Given the description of an element on the screen output the (x, y) to click on. 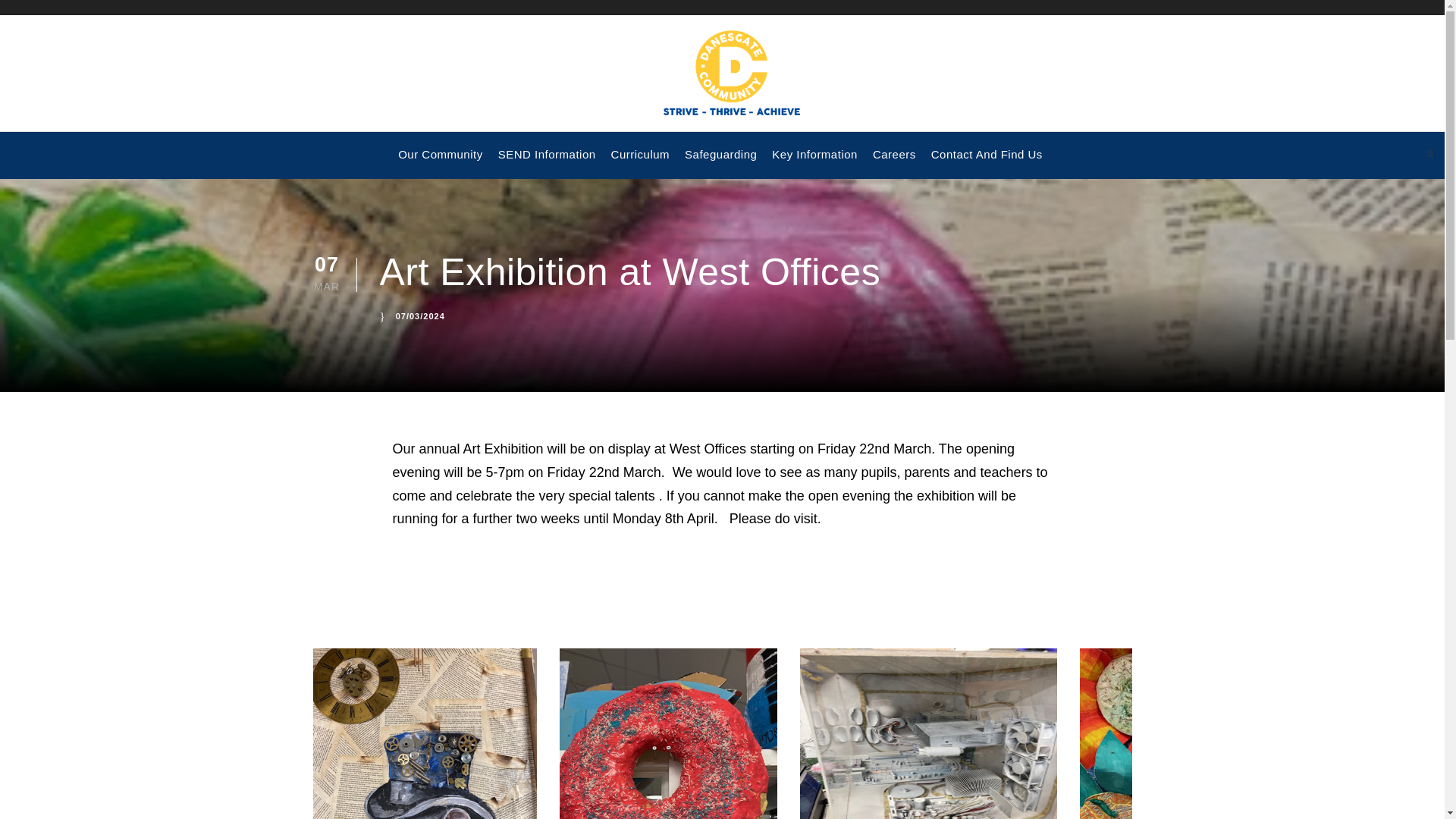
SEND Information (546, 161)
Picture2 (668, 733)
Our Community (440, 161)
Picture4 (1191, 733)
Curriculum (640, 161)
Picture3 (928, 733)
Picture1 (424, 733)
